Given the description of an element on the screen output the (x, y) to click on. 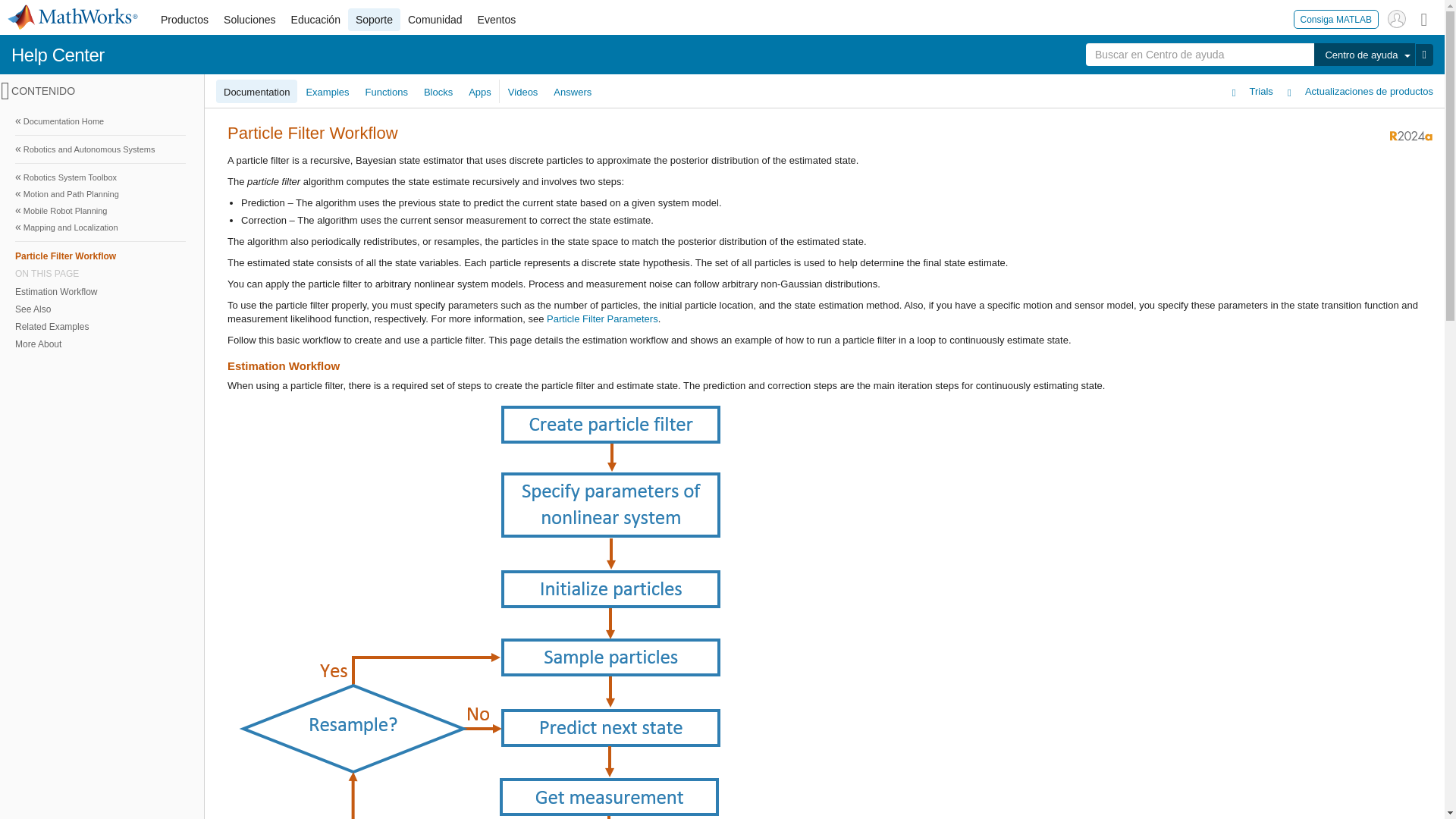
Consiga MATLAB (1336, 18)
Eventos (497, 19)
ON THIS PAGE (100, 273)
Comunidad (435, 19)
Productos (183, 19)
Particle Filter Workflow (100, 255)
Soporte (373, 19)
Soluciones (249, 19)
Matrix Menu (1423, 18)
